Given the description of an element on the screen output the (x, y) to click on. 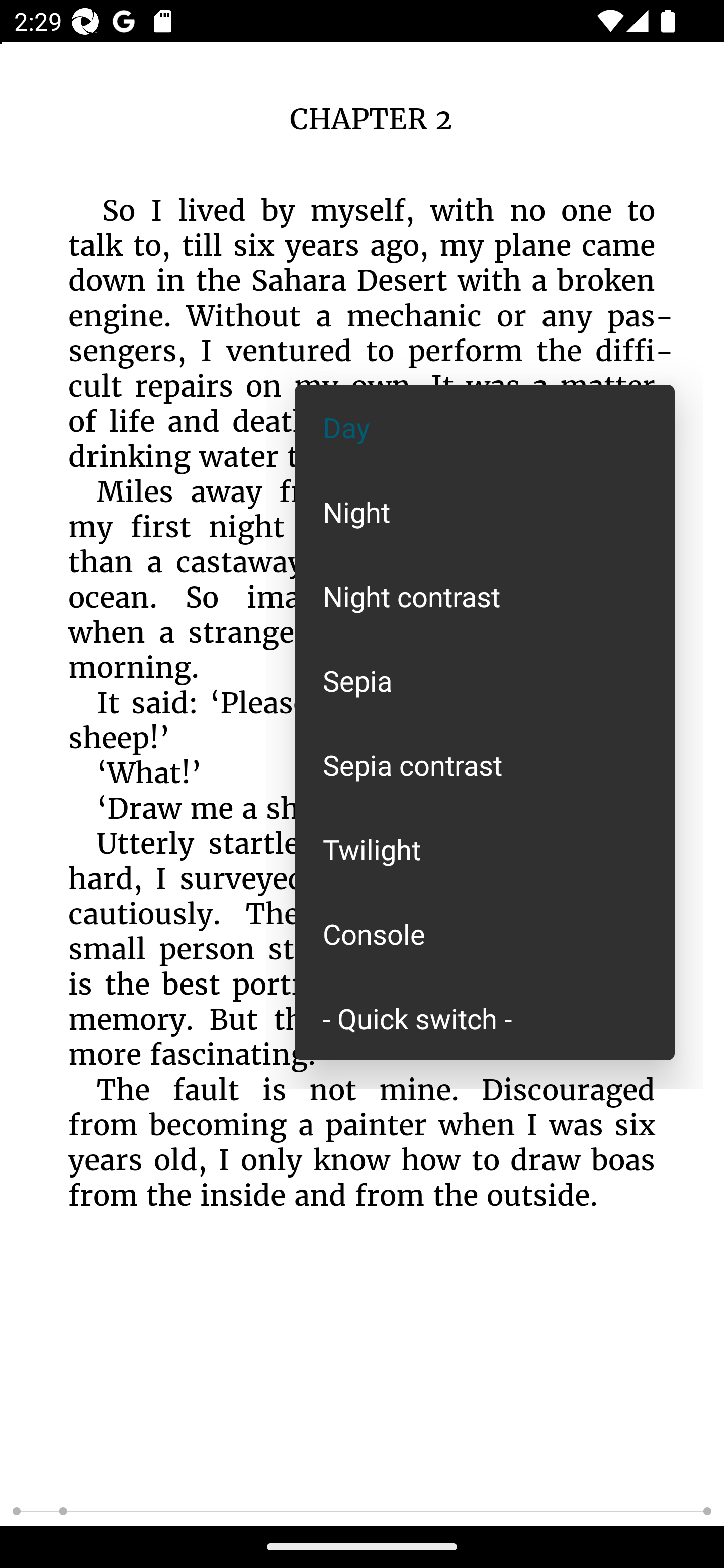
Day (484, 426)
Night (484, 510)
Night contrast (484, 595)
Sepia (484, 680)
Sepia contrast (484, 764)
Twilight (484, 849)
Console (484, 933)
- Quick switch - (484, 1017)
